Given the description of an element on the screen output the (x, y) to click on. 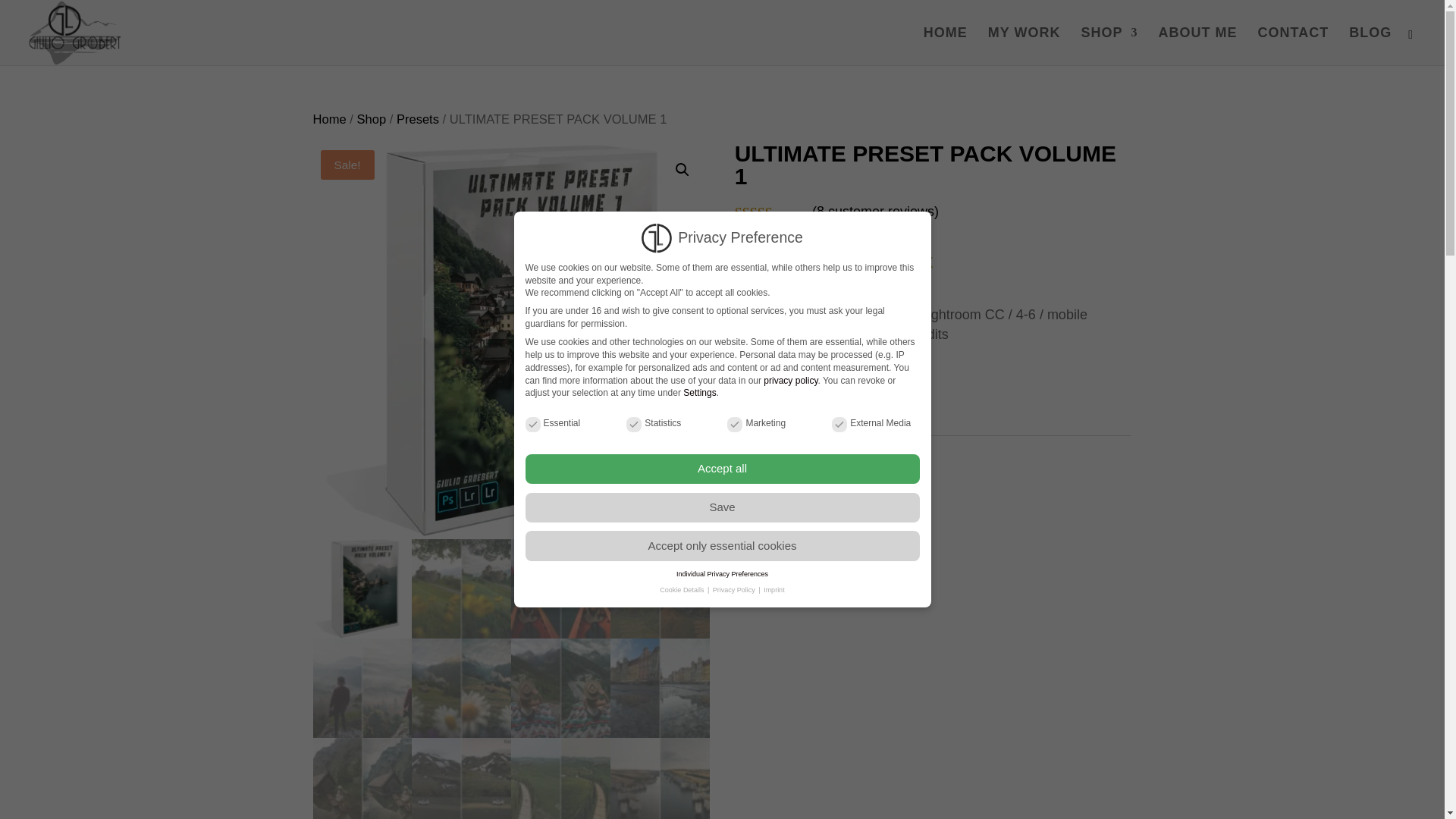
MY WORK (1024, 46)
Home (329, 119)
1 (757, 396)
SHOP (1108, 46)
ABOUT ME (1196, 46)
BLOG (1370, 46)
HOME (945, 46)
Presets (417, 119)
CONTACT (1292, 46)
Shop (370, 119)
